Given the description of an element on the screen output the (x, y) to click on. 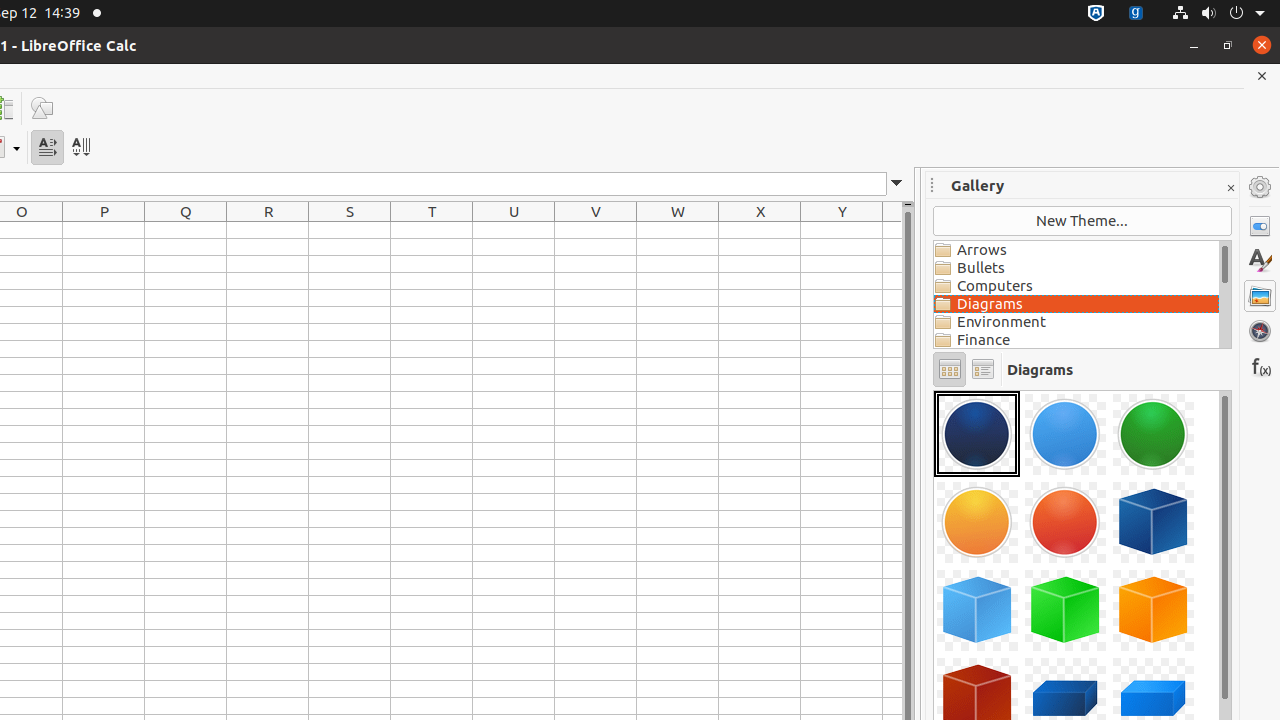
Component-Cube04-Orange Element type: list-item (1153, 610)
Text direction from top to bottom Element type: toggle-button (80, 147)
Functions Element type: radio-button (1260, 366)
Z1 Element type: table-cell (892, 230)
Close Sidebar Deck Element type: push-button (1230, 188)
